Given the description of an element on the screen output the (x, y) to click on. 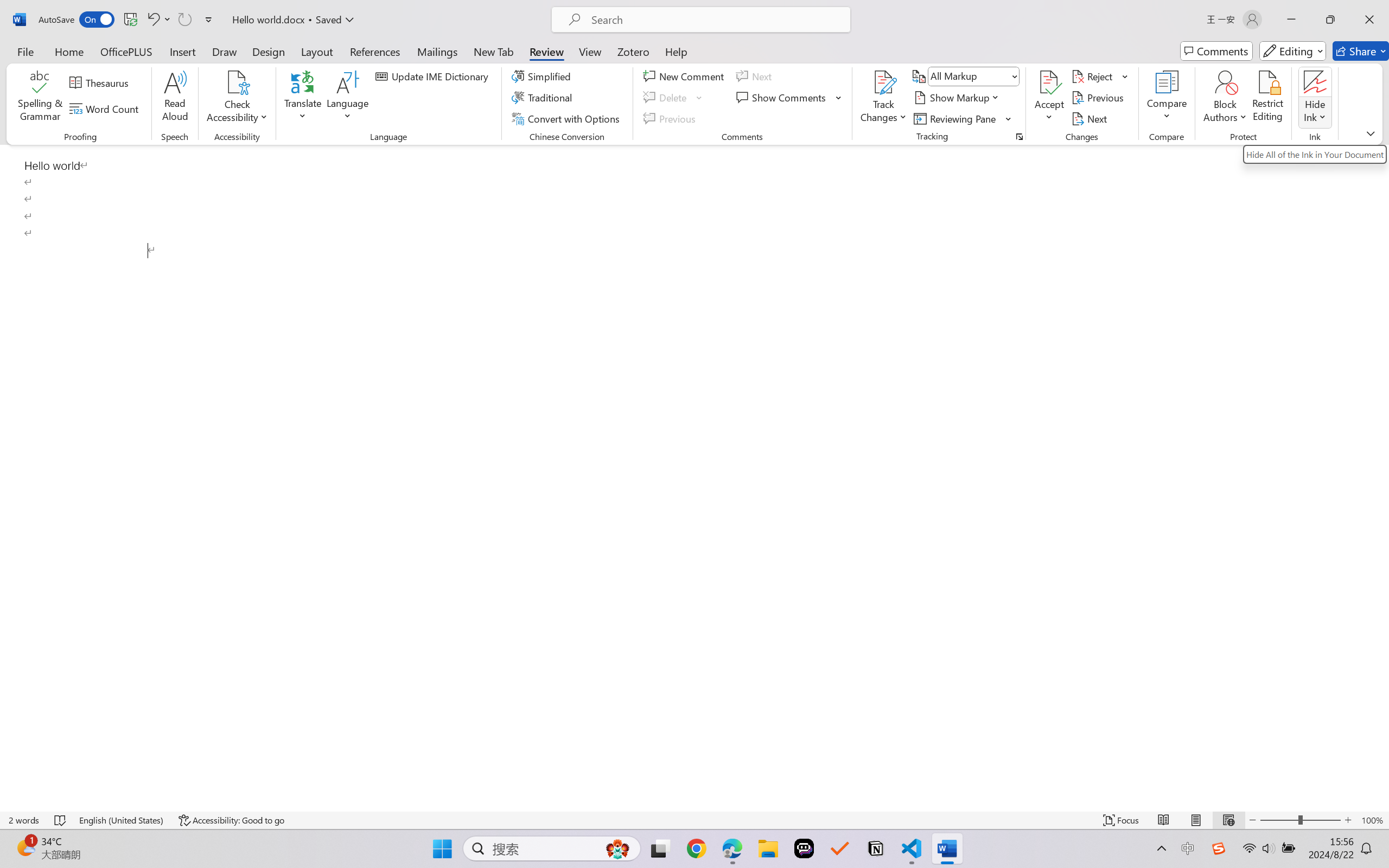
Restore Down (1330, 19)
Hide Ink (1315, 97)
Save (130, 19)
Translate (303, 97)
Quick Access Toolbar (127, 19)
Zoom (1300, 819)
Draw (224, 51)
Undo Click and Type Formatting (152, 19)
Reviewing Pane (955, 118)
Show Comments (782, 97)
Print Layout (1196, 819)
Hide All of the Ink in Your Document (1314, 154)
